Given the description of an element on the screen output the (x, y) to click on. 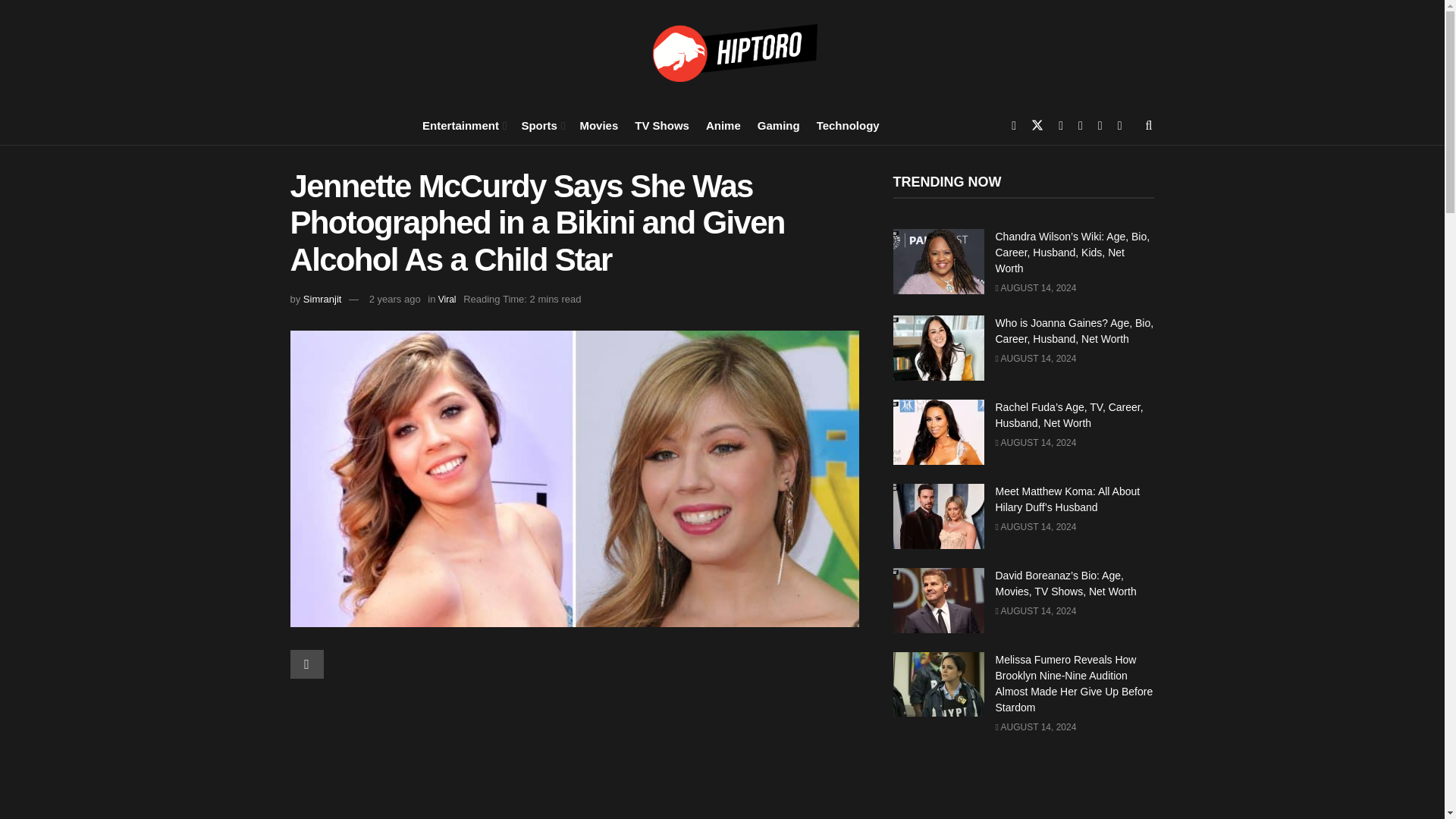
Entertainment (462, 124)
Advertisement (574, 758)
Viral (447, 299)
Movies (598, 124)
2 years ago (394, 298)
Simranjit (322, 298)
TV Shows (661, 124)
Anime (723, 124)
Technology (847, 124)
Sports (541, 124)
